Given the description of an element on the screen output the (x, y) to click on. 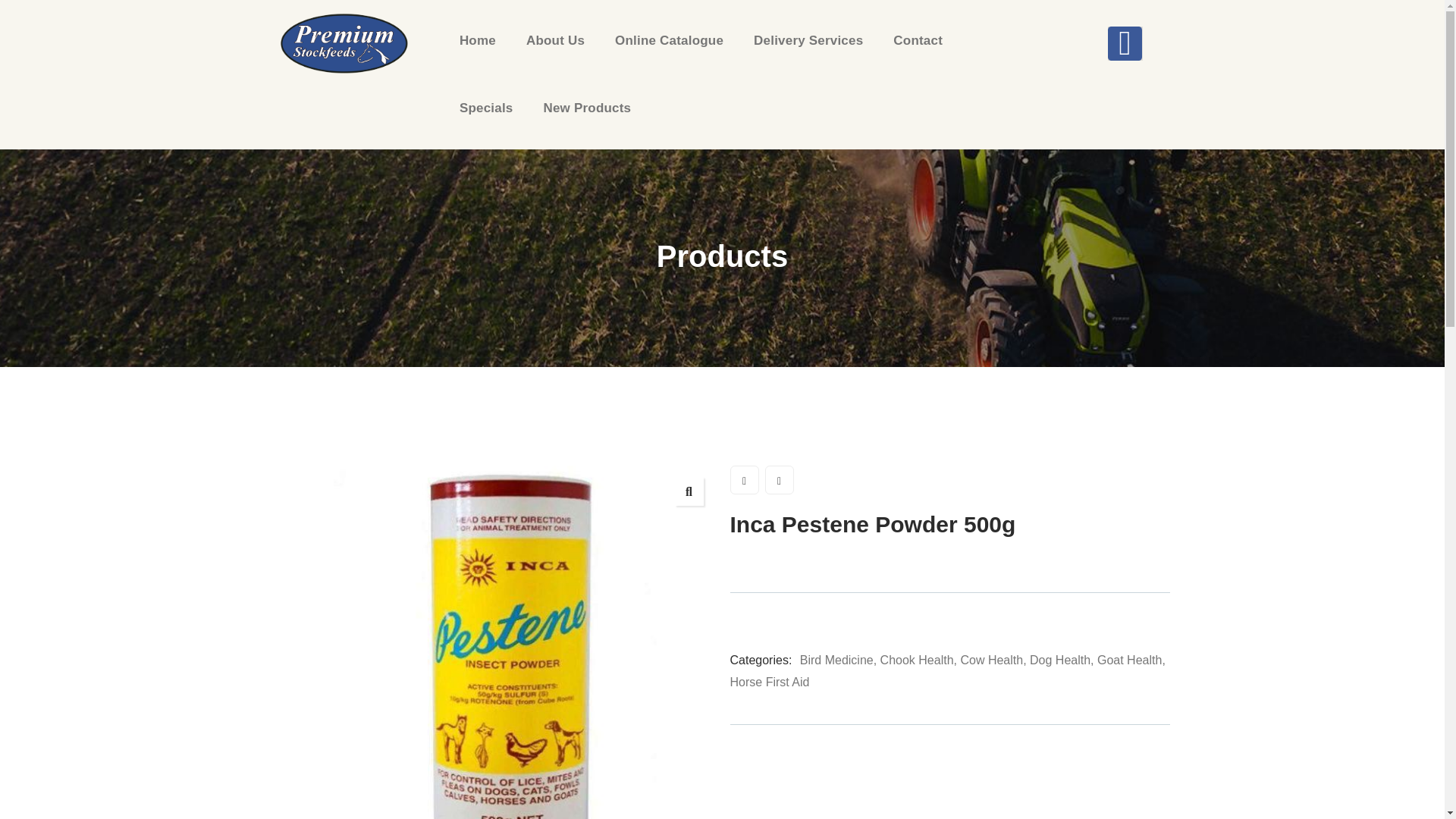
About Us (555, 41)
Contact (917, 41)
Online Catalogue (668, 41)
Goat Health (1129, 659)
Cow Health (991, 659)
Bird Medicine (836, 659)
Home (342, 41)
Specials (486, 108)
Chook Health (916, 659)
Dog Health (1059, 659)
New Products (586, 108)
Delivery Services (808, 41)
Home (478, 41)
Horse First Aid (769, 681)
